Given the description of an element on the screen output the (x, y) to click on. 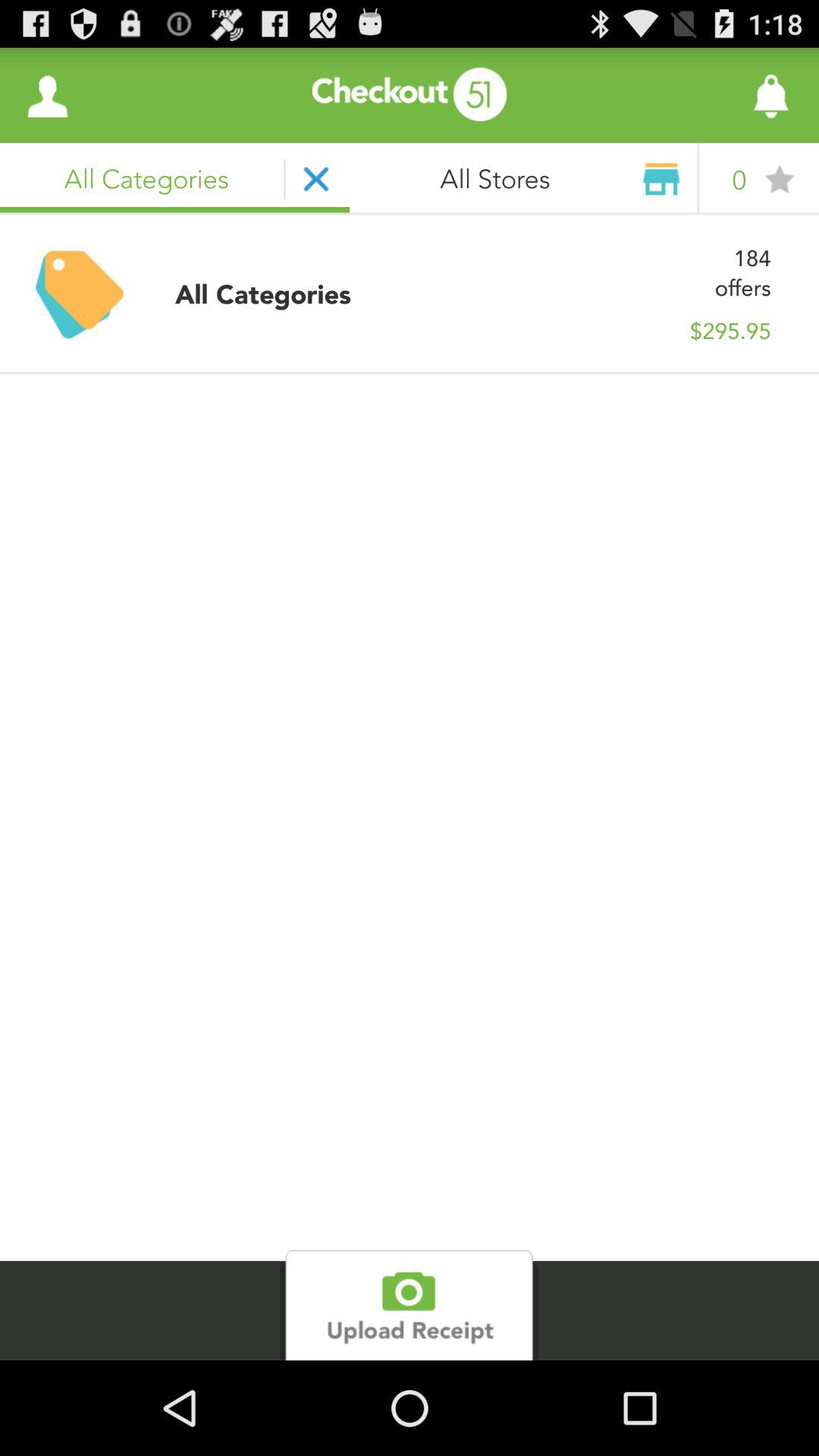
toggle camera upload option (408, 1305)
